Given the description of an element on the screen output the (x, y) to click on. 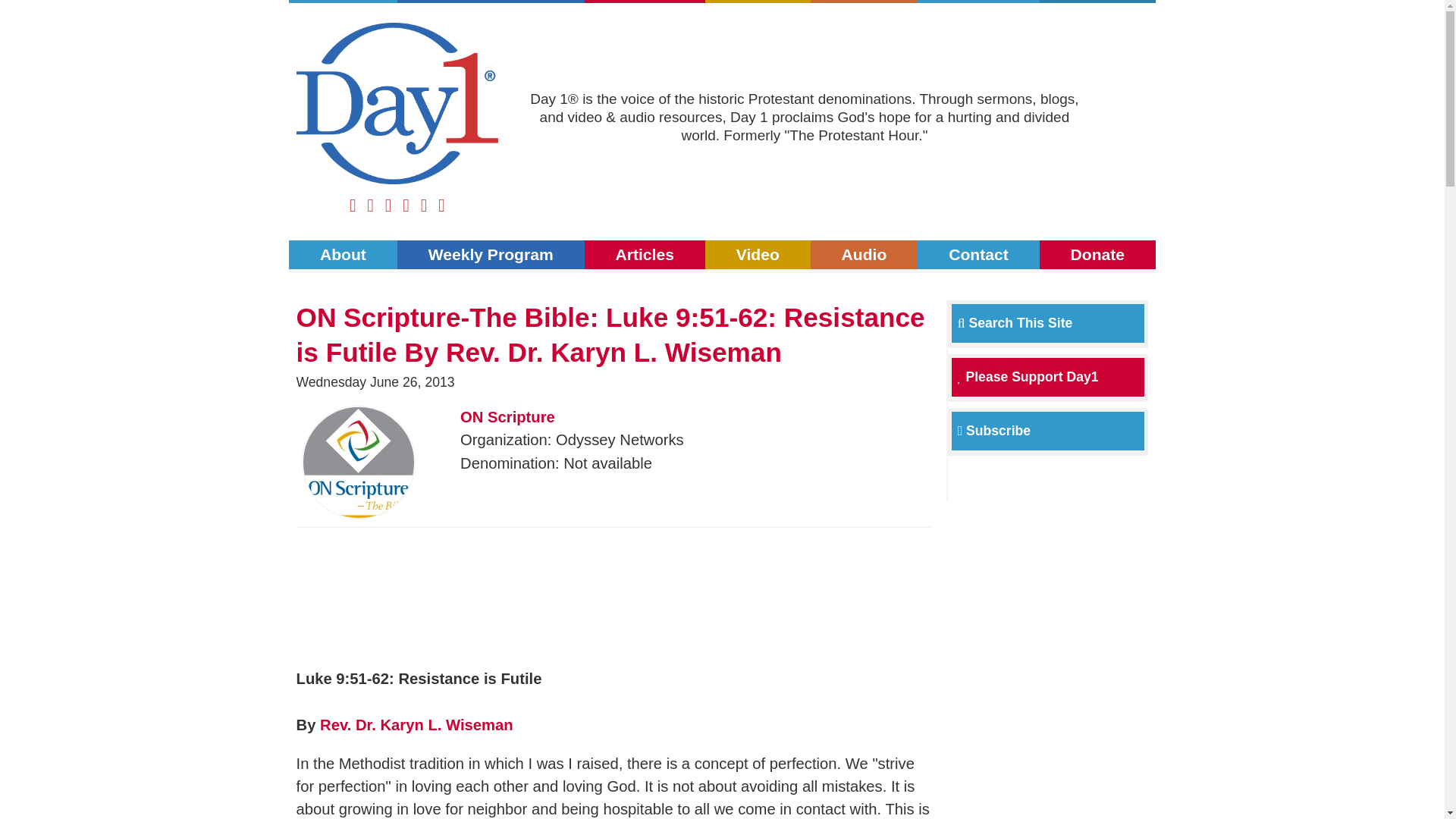
ON Scripture (507, 416)
Please Support Day1 (1028, 376)
About Day1 (342, 1)
Weekly Program (491, 254)
Day 1Articles (644, 1)
Day1 Weekly Program (491, 1)
Video (757, 1)
Articles (644, 254)
Day1 Home (398, 103)
Video (757, 254)
